Given the description of an element on the screen output the (x, y) to click on. 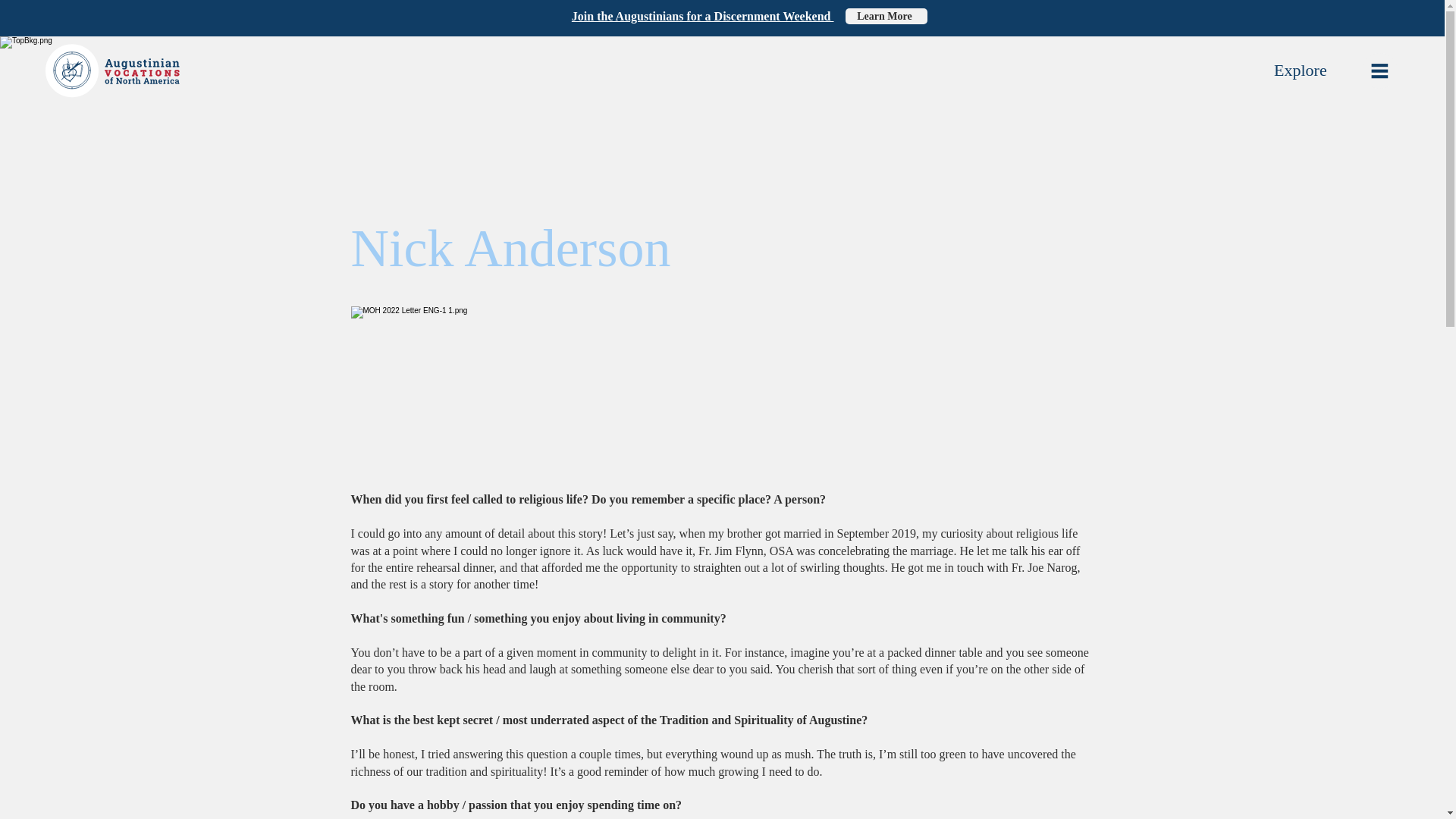
Learn More (885, 16)
Join the Augustinians for a Discernment Weekend  (703, 15)
Explore (1300, 69)
